Given the description of an element on the screen output the (x, y) to click on. 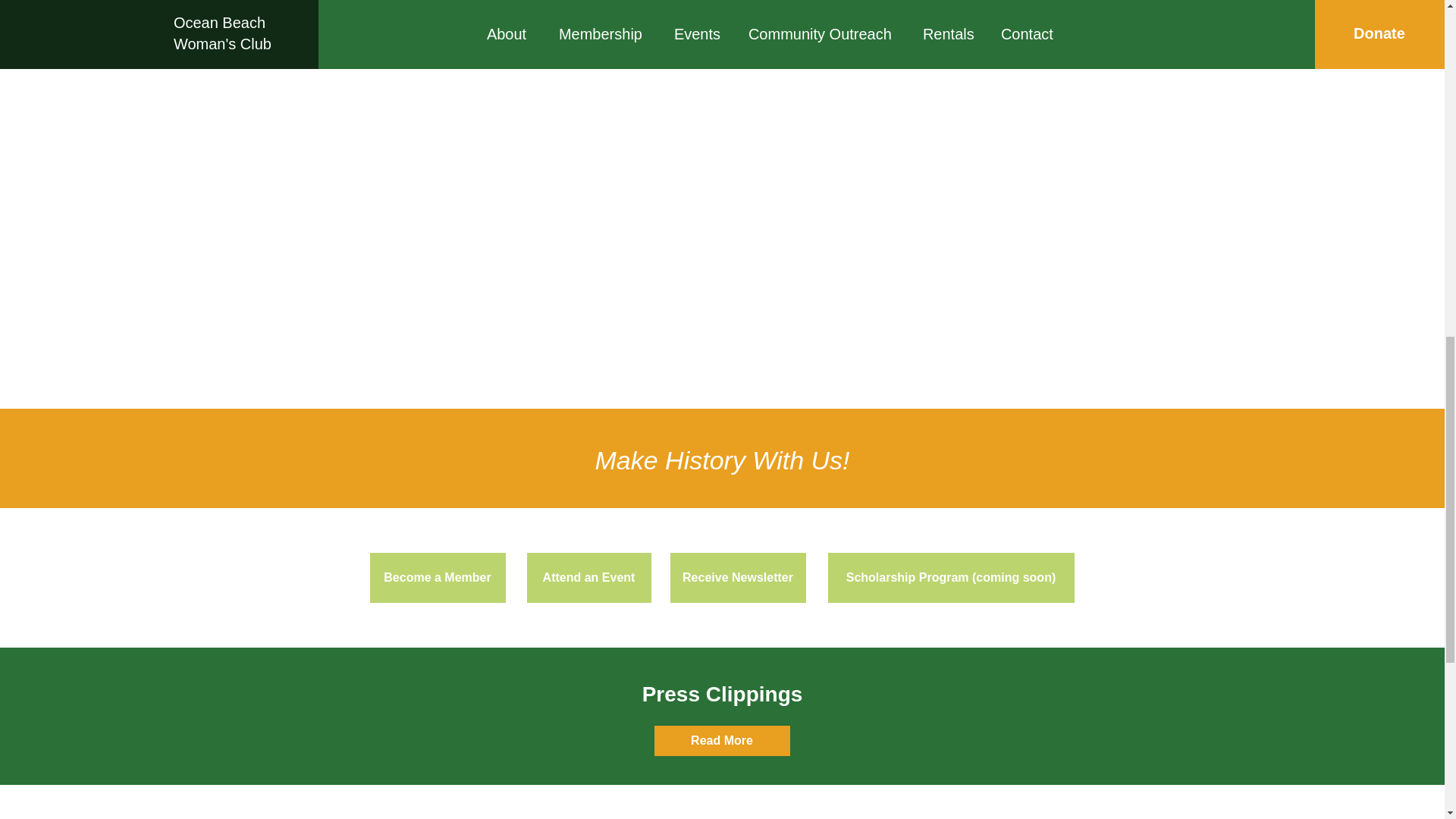
Become a Member (437, 577)
Read More (721, 740)
Receive Newsletter (737, 577)
Attend an Event (587, 577)
